Given the description of an element on the screen output the (x, y) to click on. 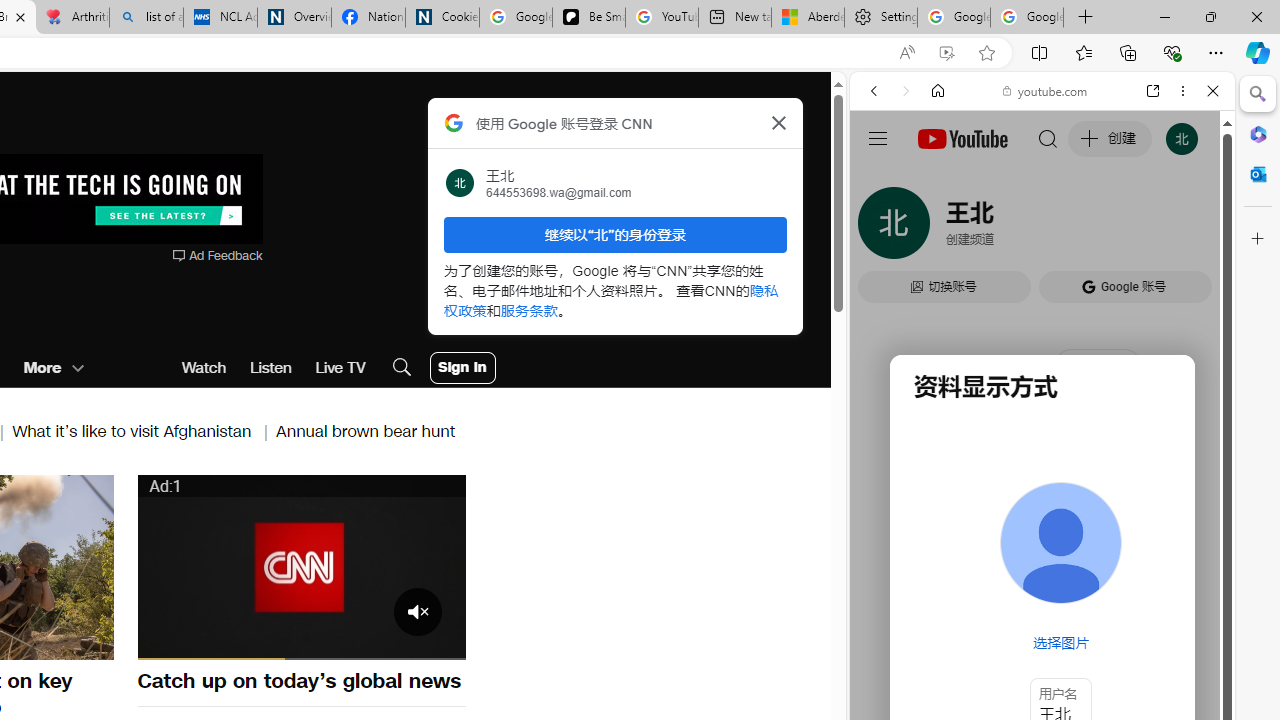
Listen (270, 367)
This site scope (936, 180)
User Account Log In Button (462, 367)
Aberdeen, Hong Kong SAR hourly forecast | Microsoft Weather (807, 17)
Search the web (1051, 137)
youtube.com (1046, 90)
Fullscreen (438, 642)
#you (1042, 445)
Search Icon (401, 367)
